Given the description of an element on the screen output the (x, y) to click on. 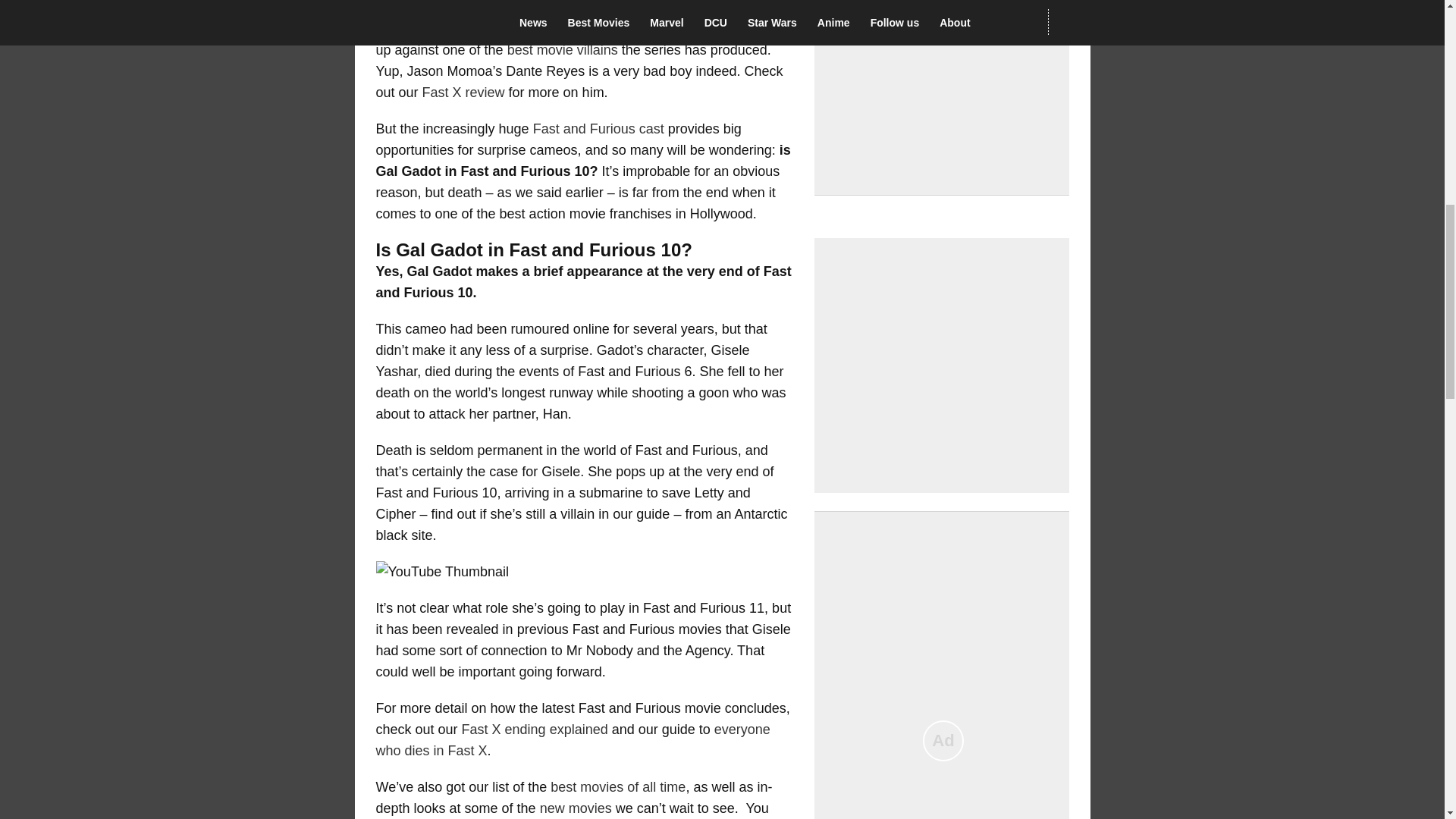
Fast X review (463, 92)
best movie villains (561, 49)
Fast and Furious 10 release date (637, 7)
Fast and Furious cast (597, 128)
Fast and Furious characters (648, 28)
